Given the description of an element on the screen output the (x, y) to click on. 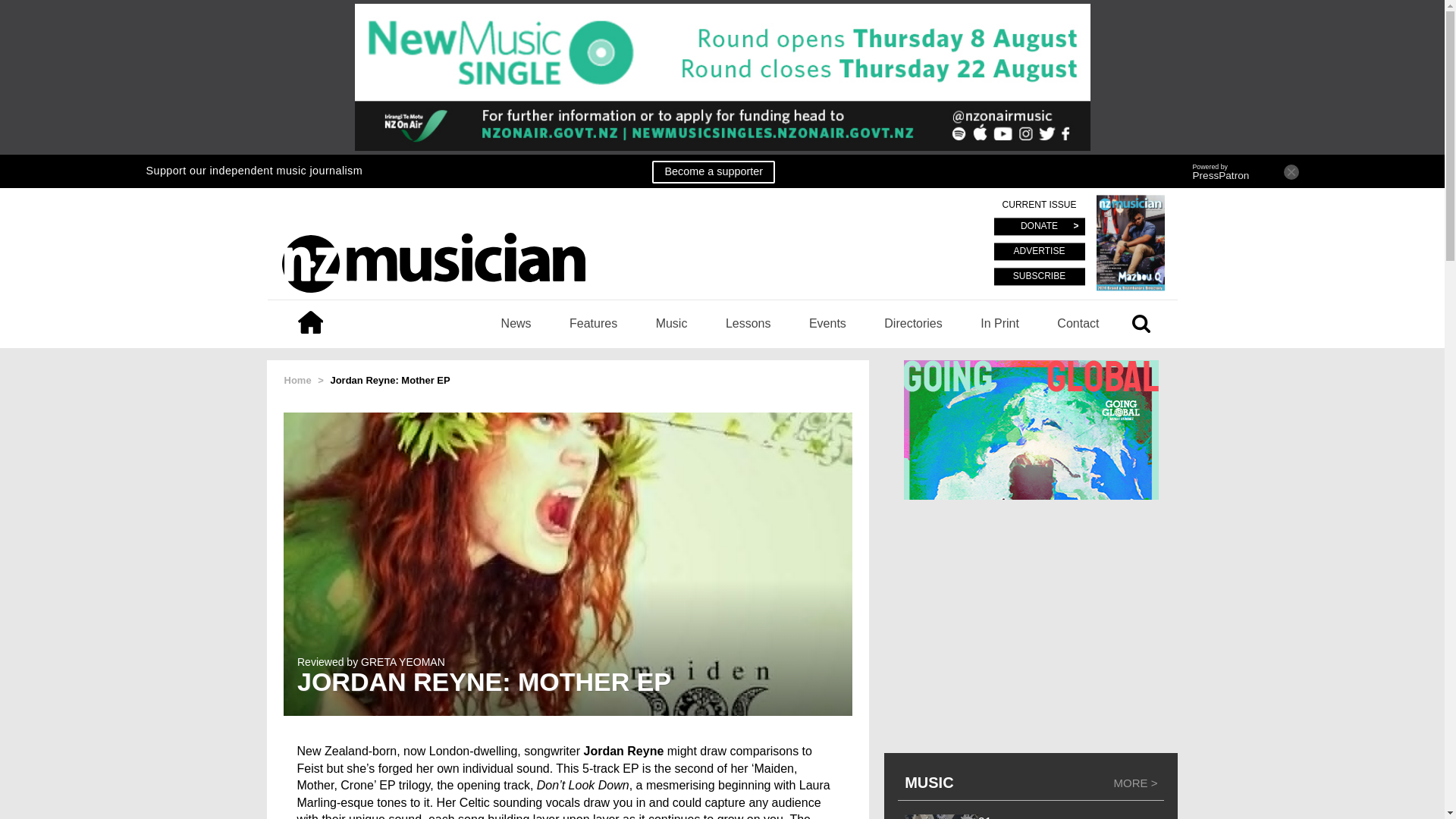
DONATE (1038, 226)
News (515, 323)
Features (593, 323)
Lessons (748, 323)
SUBSCRIBE (1038, 276)
Music (671, 323)
ADVERTISE (1038, 252)
Events (827, 323)
Go to NZ Musician. (297, 379)
